Given the description of an element on the screen output the (x, y) to click on. 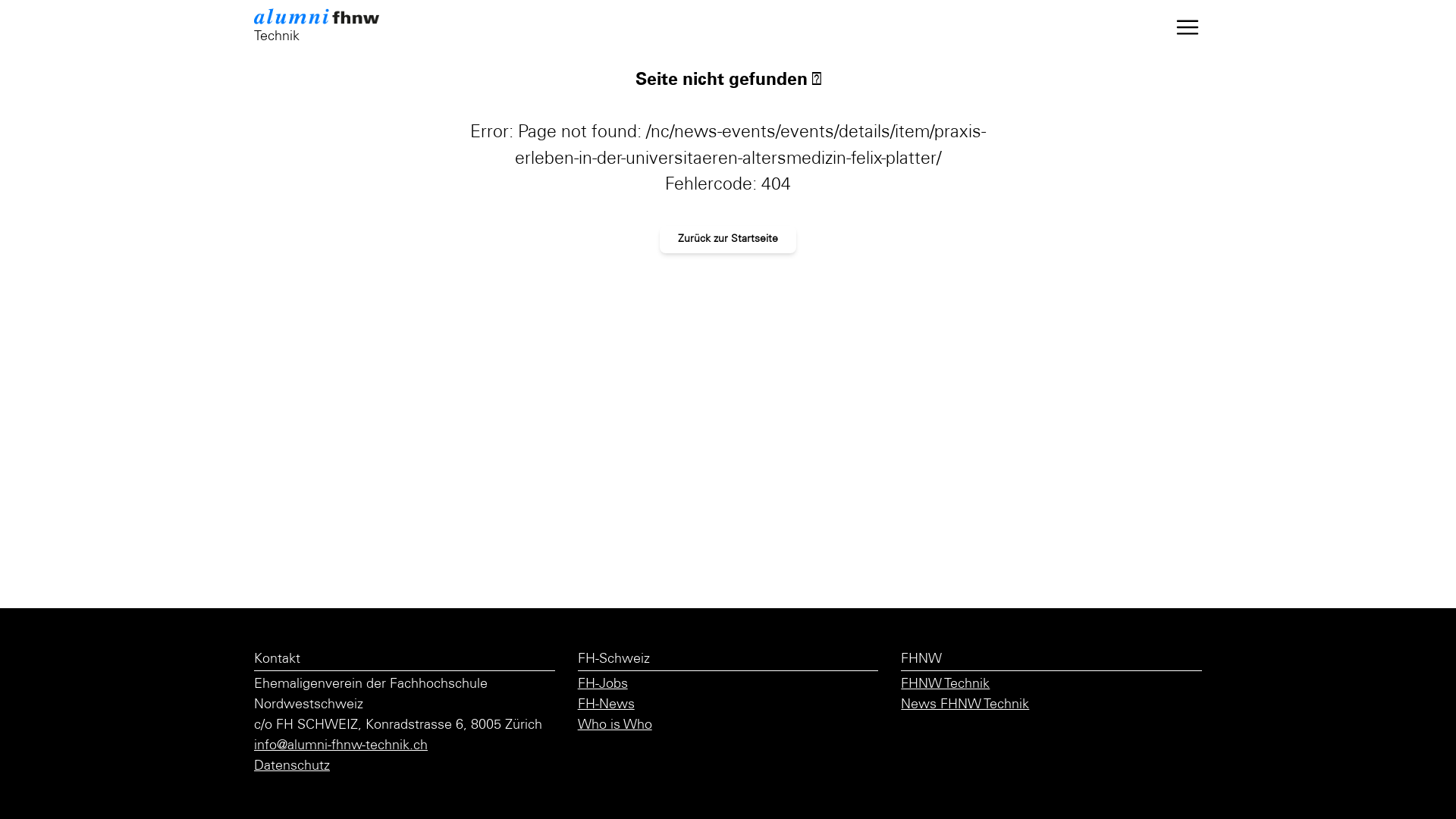
info@alumni-fhnw-technik.ch Element type: text (340, 746)
FH-News Element type: text (605, 705)
Technik Element type: text (327, 26)
FH-Jobs Element type: text (602, 684)
News FHNW Technik Element type: text (964, 705)
Who is Who Element type: text (614, 725)
FHNW Technik Element type: text (944, 684)
Datenschutz Element type: text (291, 766)
